Given the description of an element on the screen output the (x, y) to click on. 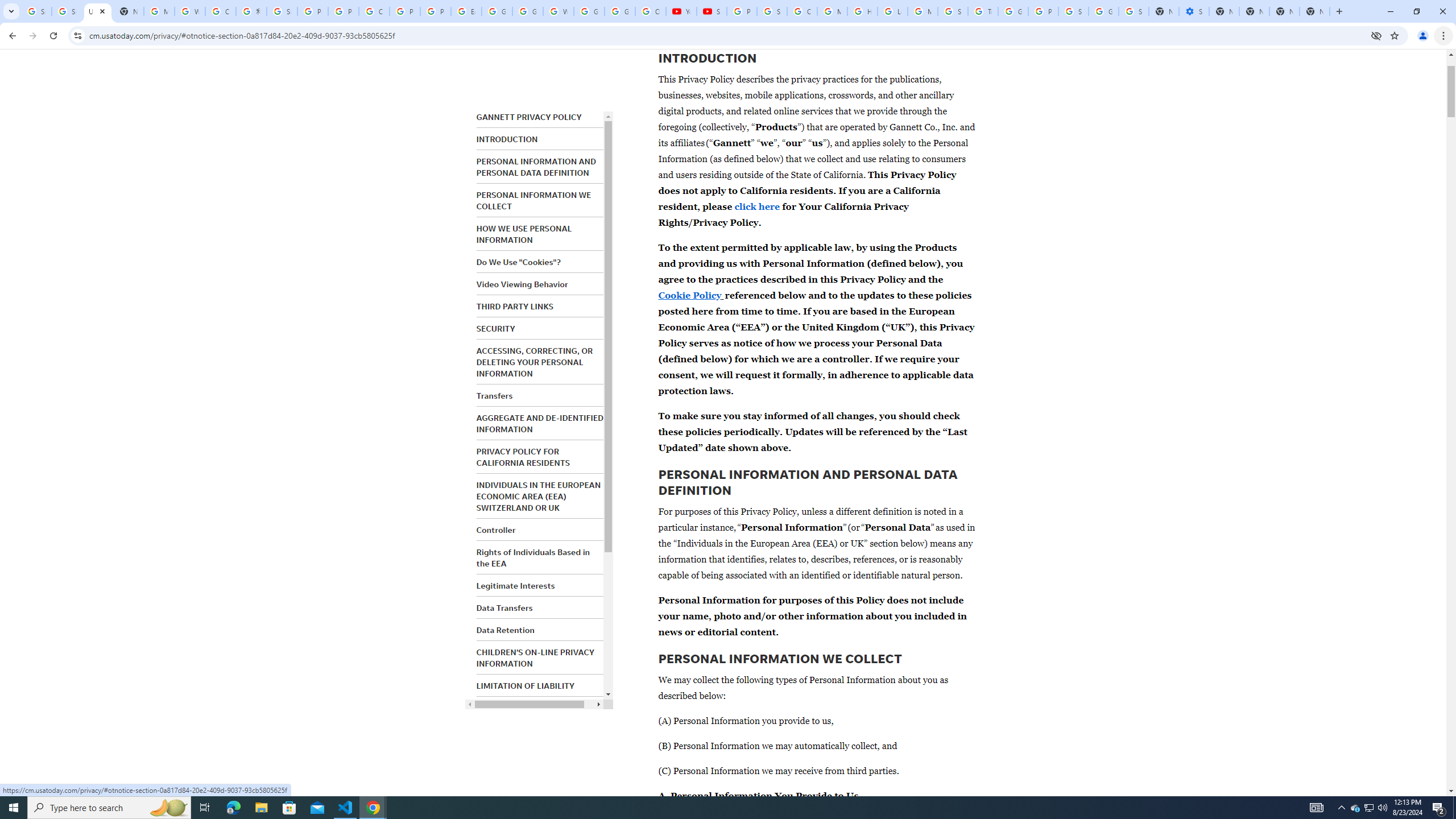
ACCESSING, CORRECTING, OR DELETING YOUR PERSONAL INFORMATION (534, 361)
GANNETT PRIVACY POLICY (529, 117)
click here (756, 206)
New Tab (1338, 11)
Address and search bar (726, 35)
Transfers (494, 395)
Edit and view right-to-left text - Google Docs Editors Help (465, 11)
Sign in - Google Accounts (771, 11)
Controller (495, 529)
Third-party cookies blocked (1376, 35)
New Tab (1314, 11)
